Given the description of an element on the screen output the (x, y) to click on. 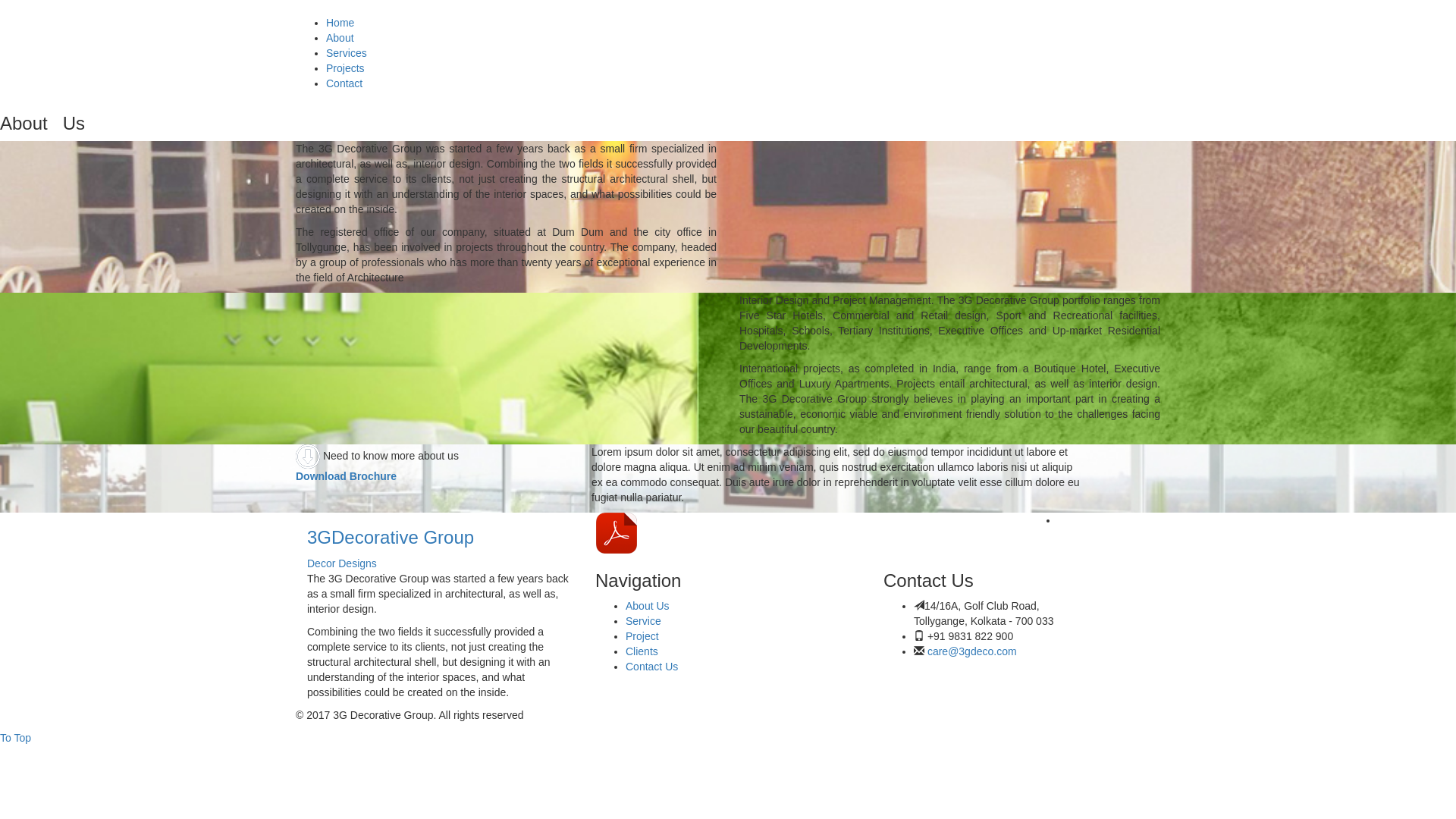
Services Element type: text (346, 53)
care@3gdeco.com Element type: text (971, 651)
To Top Element type: text (15, 737)
Home Element type: text (340, 22)
Project Element type: text (641, 636)
Contact Us Element type: text (651, 666)
Service Element type: text (643, 621)
3GDecorative Group Element type: text (390, 537)
About Element type: text (340, 37)
Contact Element type: text (344, 83)
Clients Element type: text (641, 651)
About Us Element type: text (647, 605)
Projects Element type: text (345, 68)
Download Brochure Element type: text (345, 476)
Decor Designs Element type: text (341, 563)
Download Brochure Element type: text (686, 532)
